Given the description of an element on the screen output the (x, y) to click on. 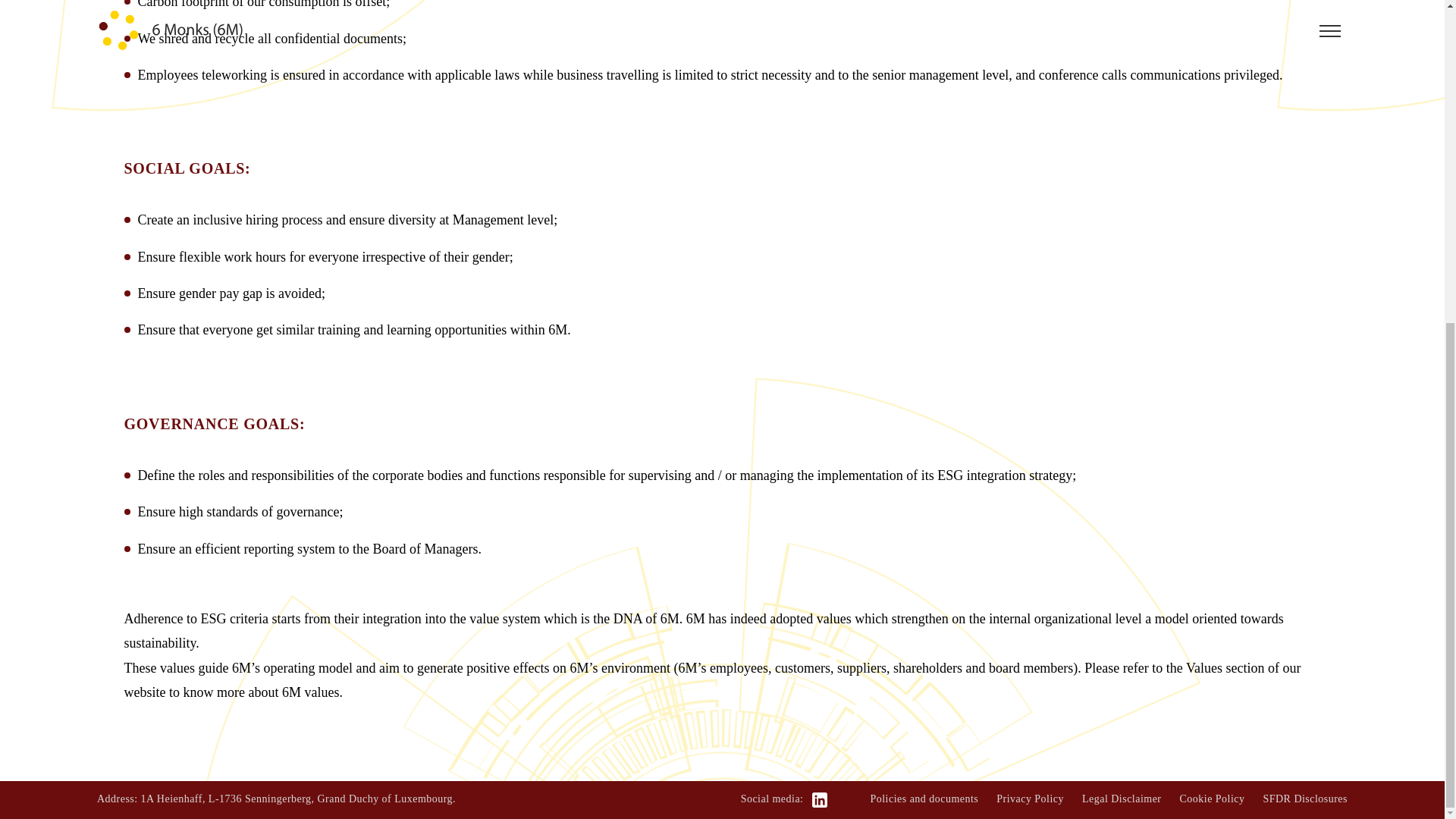
Cookie Policy (1211, 799)
Privacy Policy (1029, 799)
Policies and documents (923, 799)
Legal Disclaimer (1120, 799)
SFDR Disclosures (1305, 799)
